Given the description of an element on the screen output the (x, y) to click on. 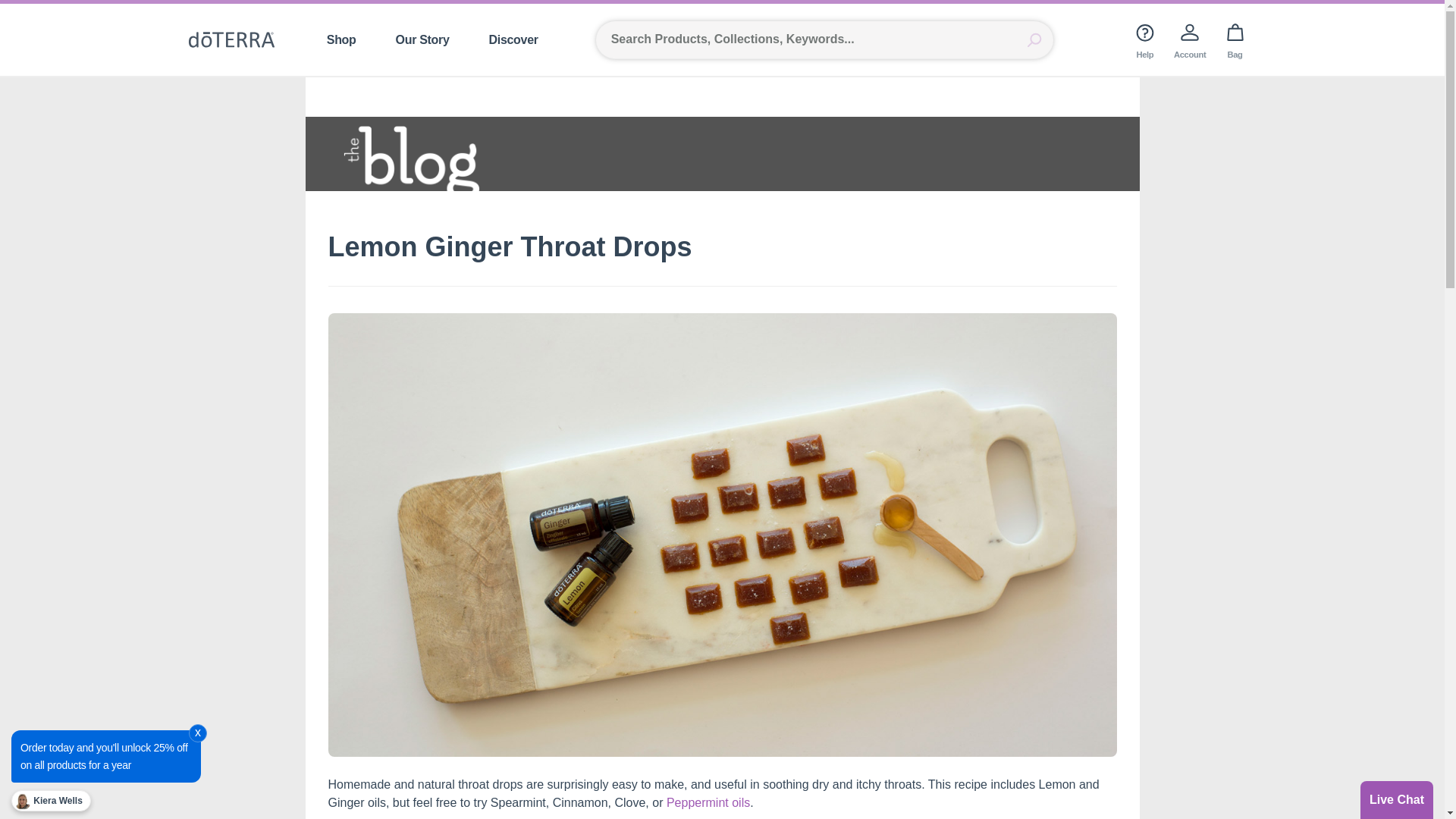
The Blog (721, 153)
